Given the description of an element on the screen output the (x, y) to click on. 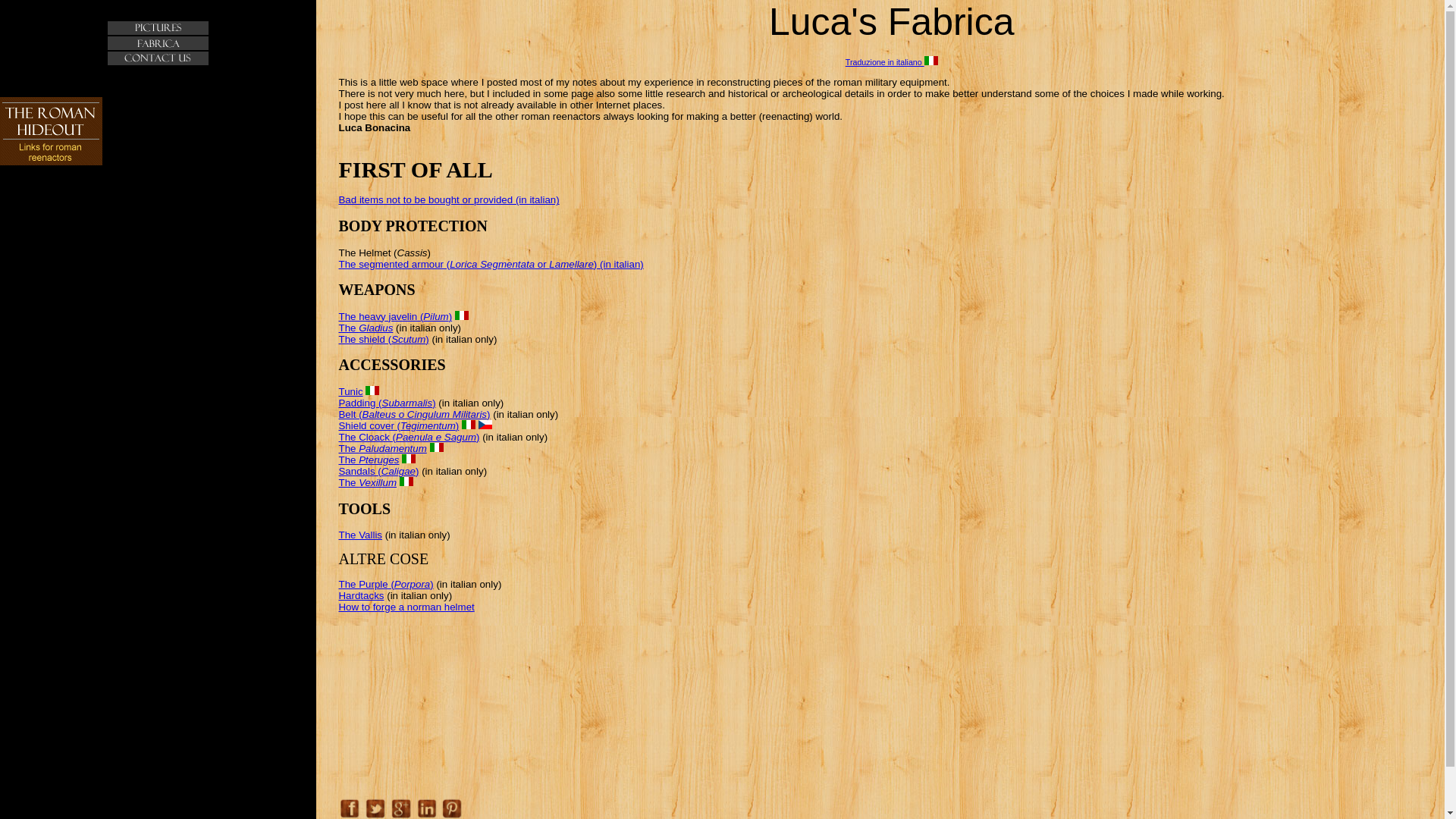
The Gladius (365, 327)
Hardtacks (360, 595)
The Vallis (359, 534)
How to forge a norman helmet (405, 606)
The Paludamentum (381, 448)
Share on Twitter (375, 807)
Share on LinkedIn (426, 807)
traduzione in italiano (436, 447)
Tunic (349, 391)
traduzione in italiano (405, 481)
traduzione in italiano (407, 458)
traduzione in italiano (468, 424)
The Vexillum (366, 482)
The Pteruges (367, 460)
Pin on Pinterest (452, 807)
